Given the description of an element on the screen output the (x, y) to click on. 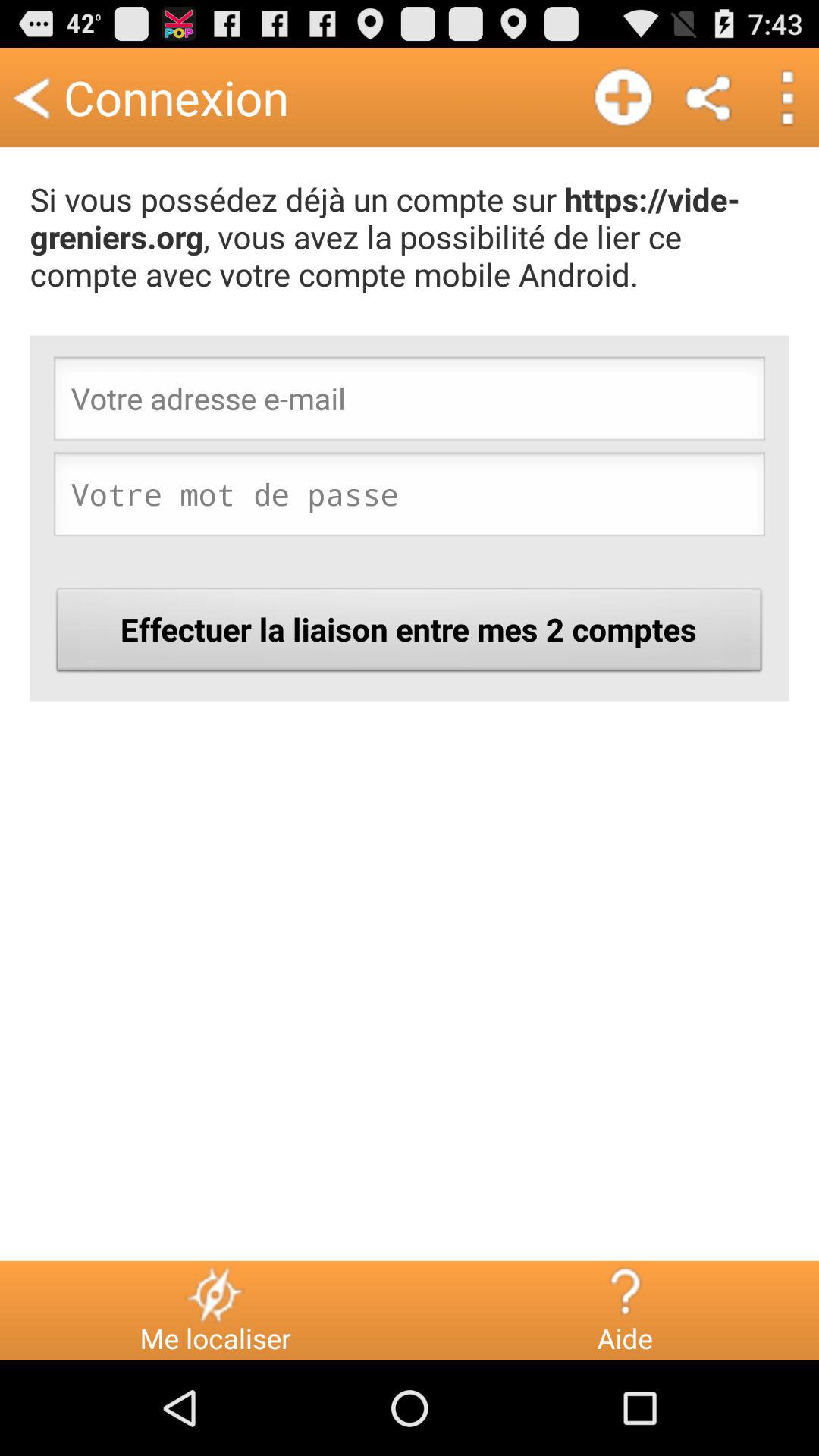
swipe to effectuer la liaison (409, 633)
